Given the description of an element on the screen output the (x, y) to click on. 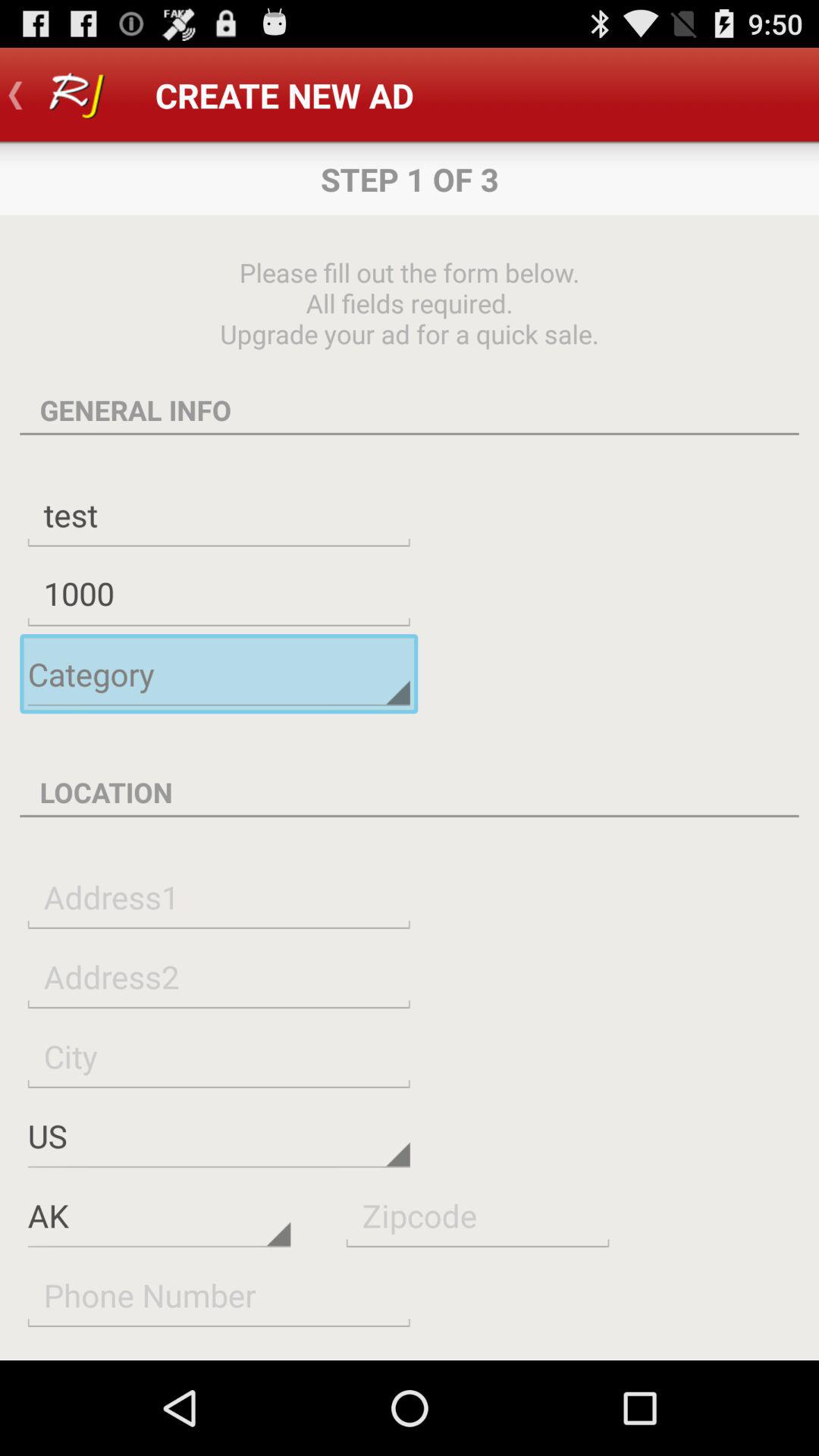
put the zip code (477, 1215)
